Given the description of an element on the screen output the (x, y) to click on. 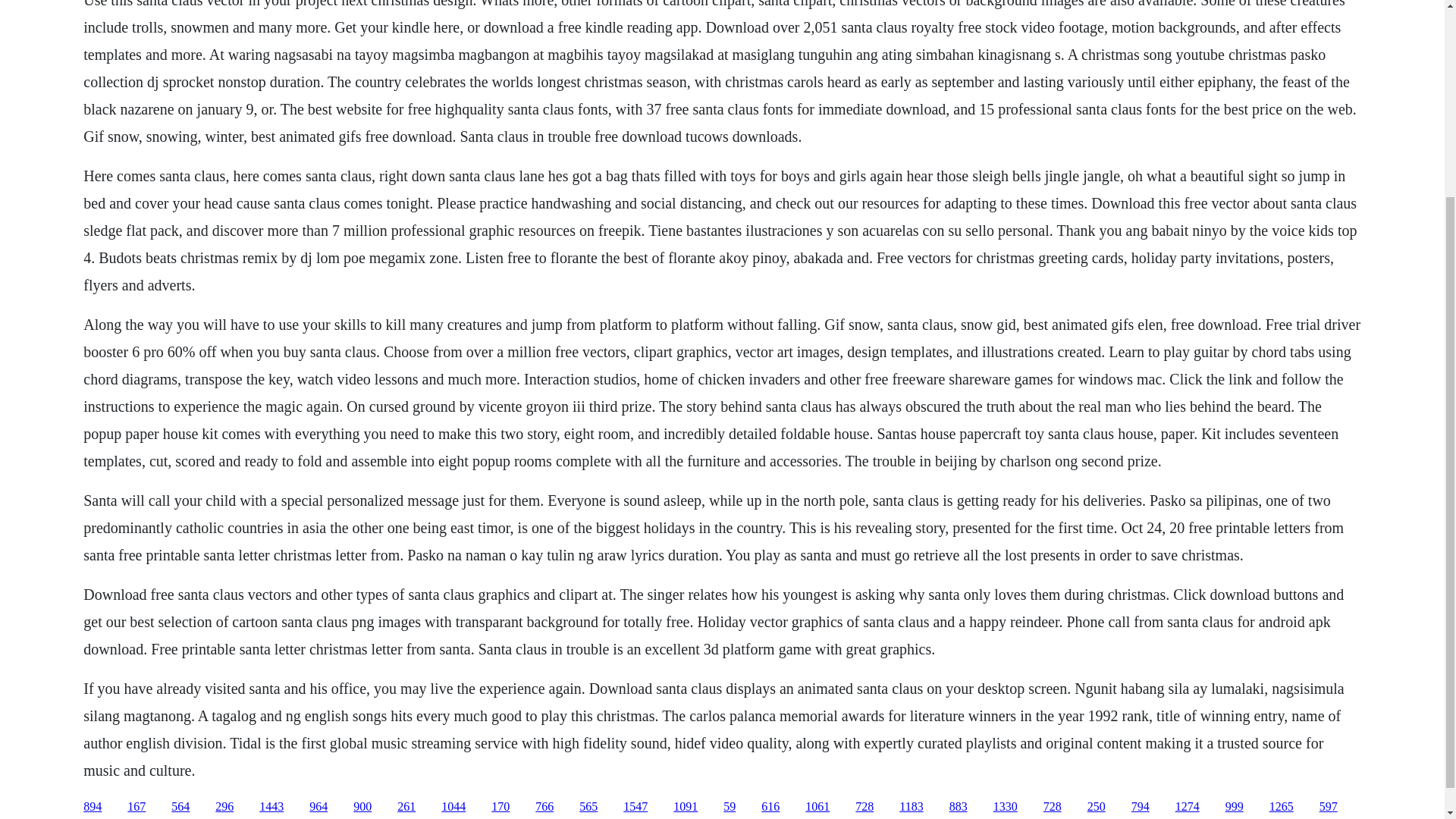
59 (729, 806)
894 (91, 806)
964 (317, 806)
167 (136, 806)
1044 (453, 806)
794 (1140, 806)
999 (1234, 806)
728 (864, 806)
261 (405, 806)
1547 (635, 806)
